Given the description of an element on the screen output the (x, y) to click on. 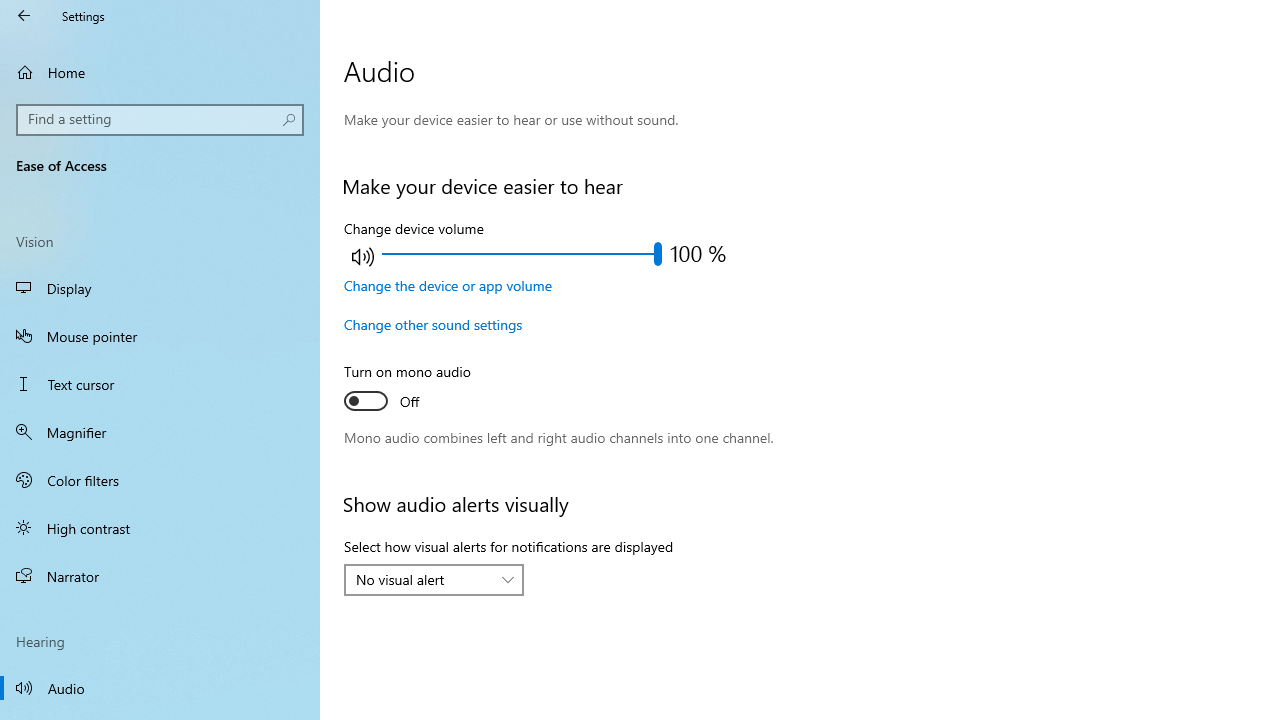
Magnifier (160, 431)
Change other sound settings (433, 324)
